Given the description of an element on the screen output the (x, y) to click on. 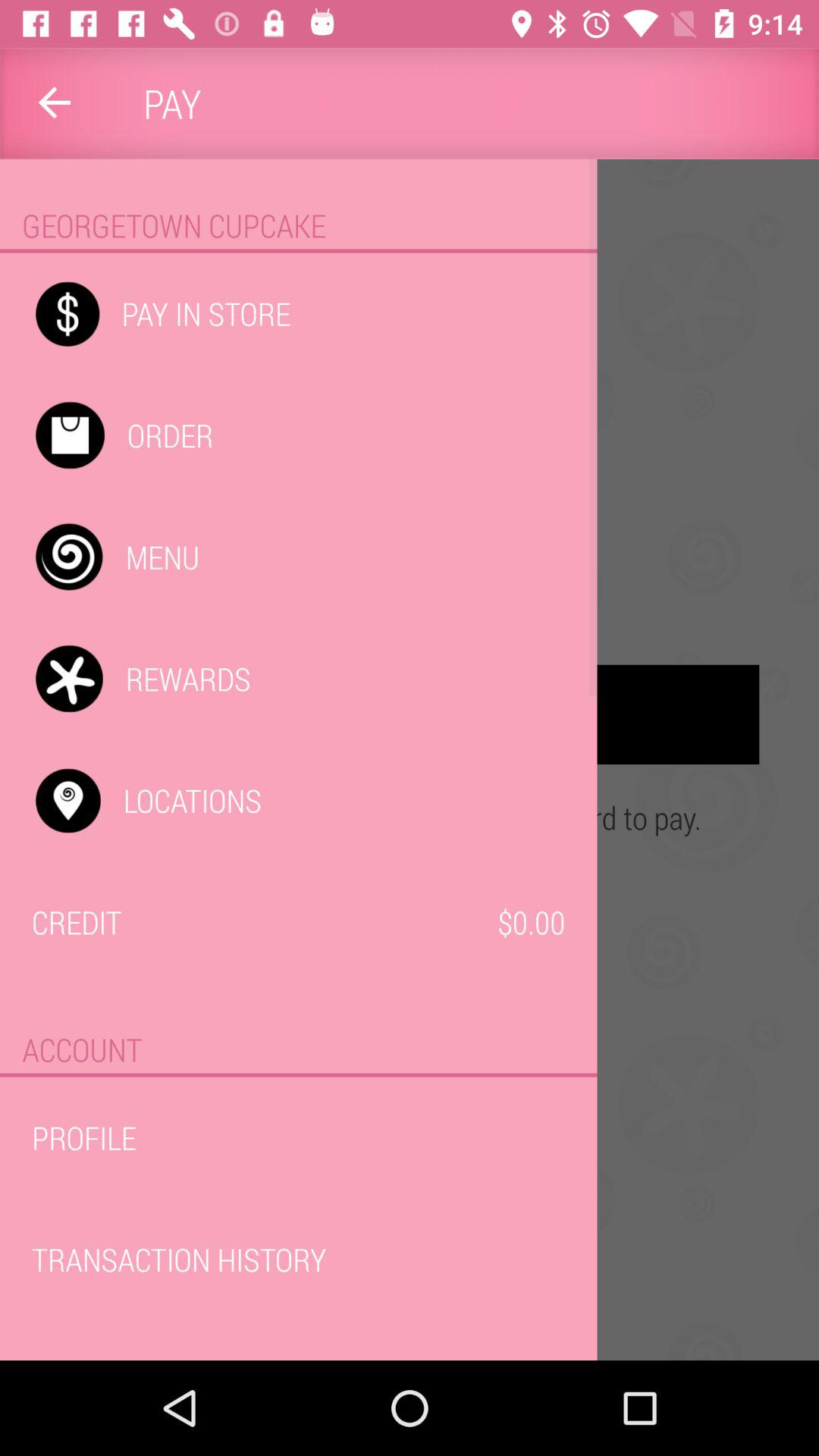
choose the fourth option which says rewards (409, 714)
